Given the description of an element on the screen output the (x, y) to click on. 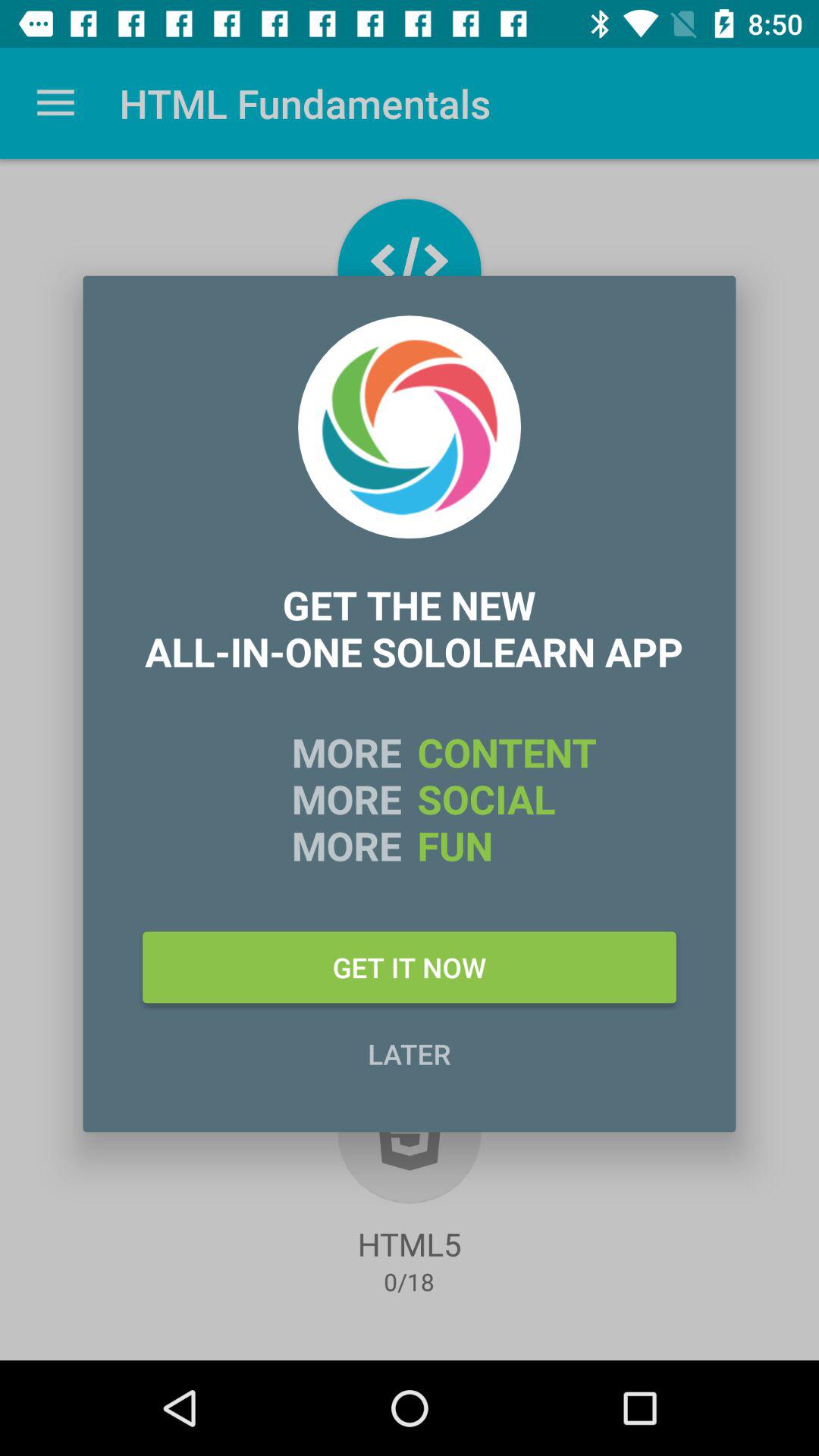
click icon below get it now (409, 1053)
